Given the description of an element on the screen output the (x, y) to click on. 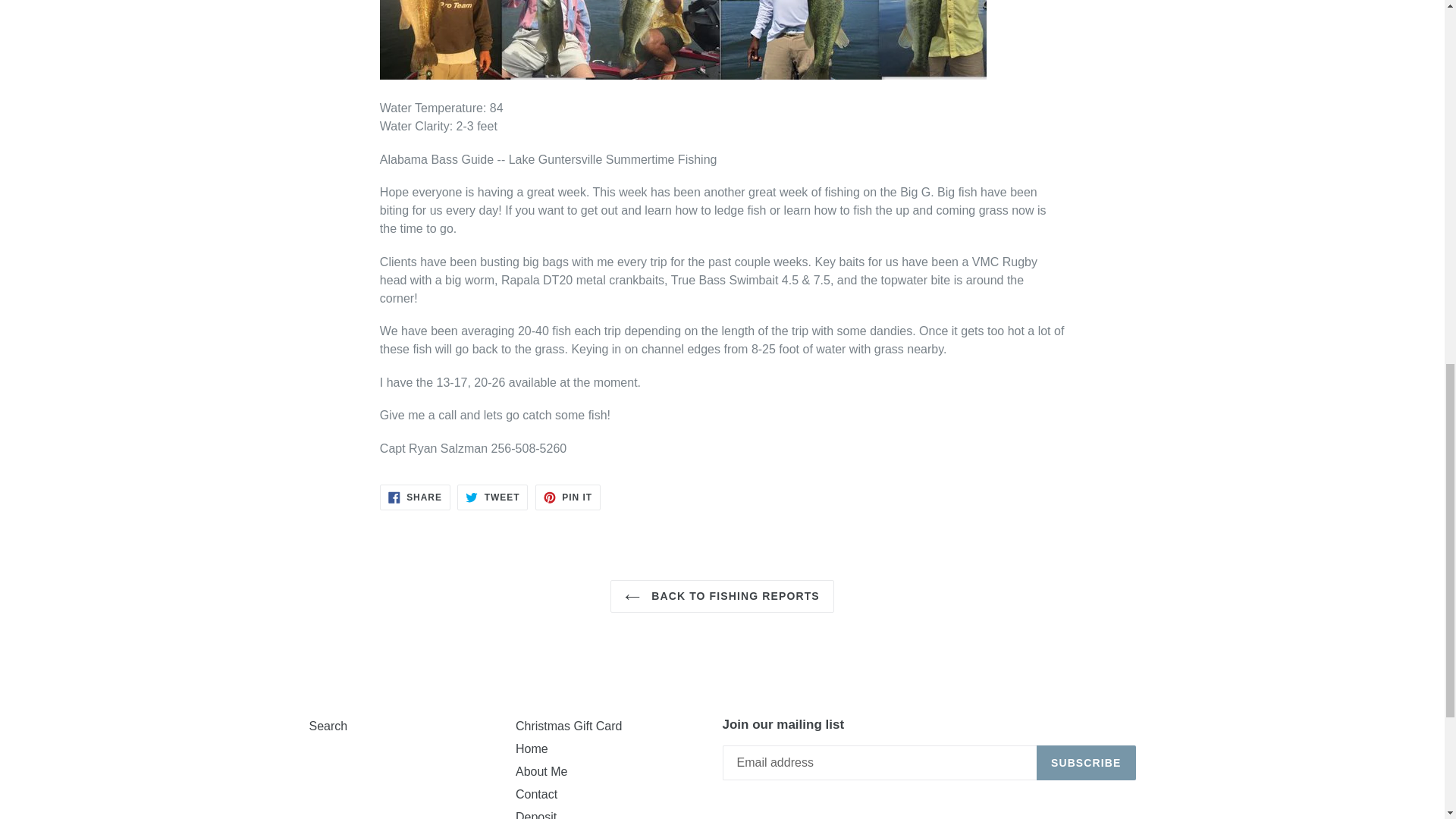
About Me (541, 770)
SUBSCRIBE (1085, 762)
Christmas Gift Card (568, 725)
Deposit (535, 814)
Contact (536, 793)
Tweet on Twitter (492, 496)
Share on Facebook (492, 496)
Home (414, 496)
